Given the description of an element on the screen output the (x, y) to click on. 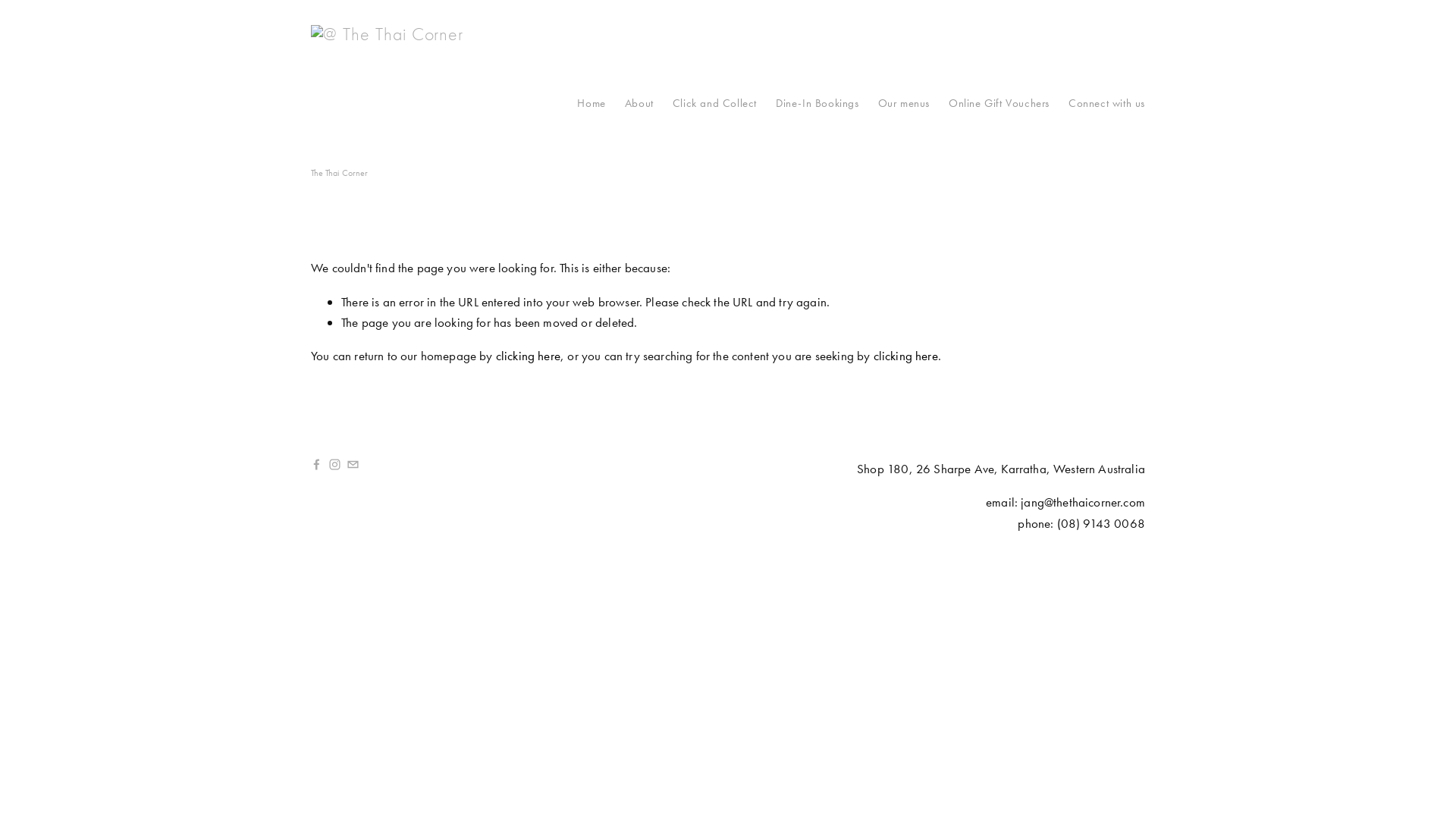
clicking here Element type: text (905, 355)
Dine-In Bookings Element type: text (817, 102)
About Element type: text (638, 102)
( Element type: text (1058, 522)
Click and Collect Element type: text (714, 102)
Our menus Element type: text (903, 102)
Home Element type: text (591, 102)
Online Gift Vouchers Element type: text (998, 102)
clicking here Element type: text (527, 355)
Connect with us Element type: text (1106, 102)
